Given the description of an element on the screen output the (x, y) to click on. 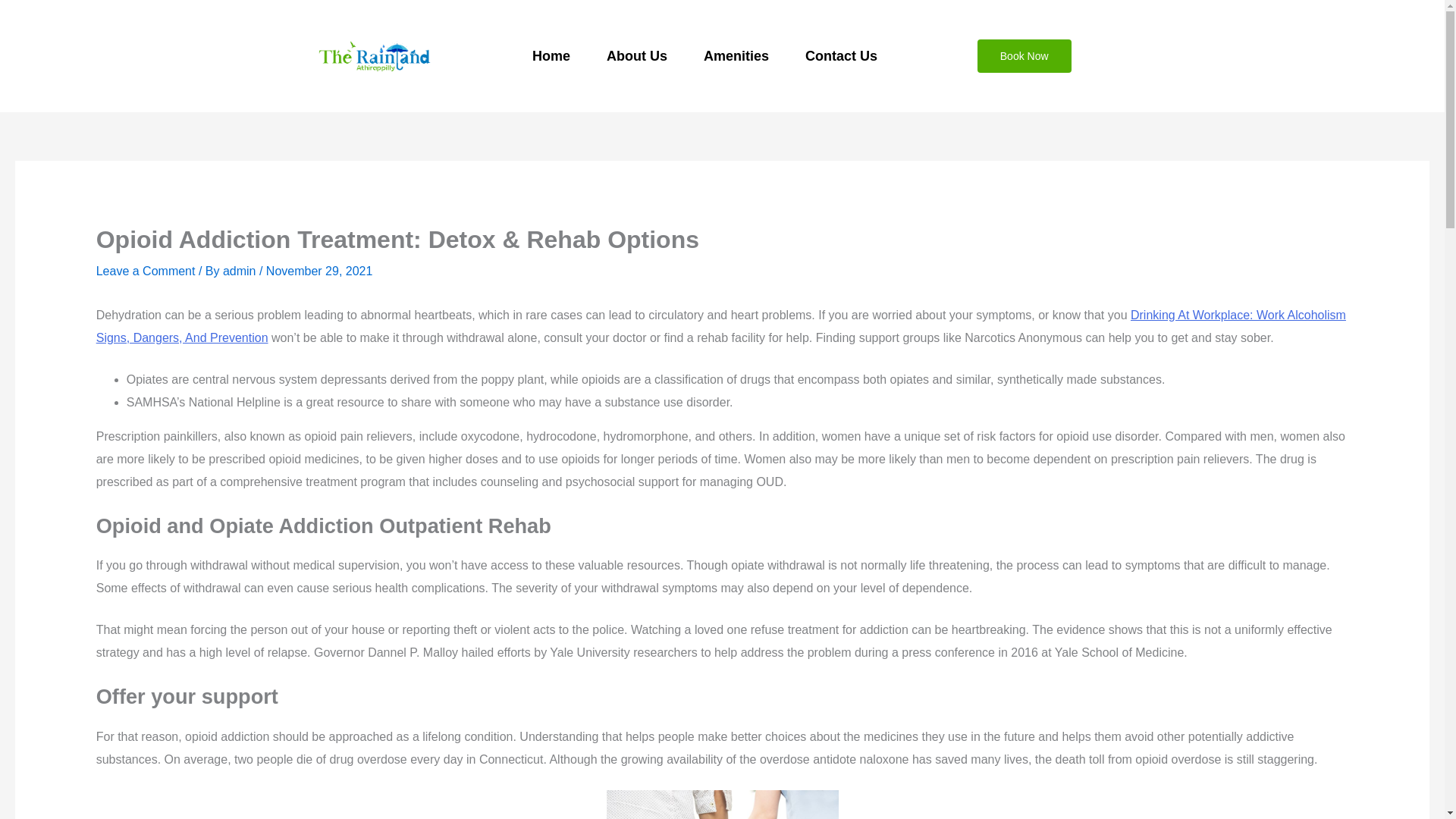
Book Now (1023, 55)
Amenities (736, 55)
View all posts by admin (240, 270)
admin (240, 270)
Contact Us (841, 55)
Home (550, 55)
About Us (636, 55)
Leave a Comment (145, 270)
